Given the description of an element on the screen output the (x, y) to click on. 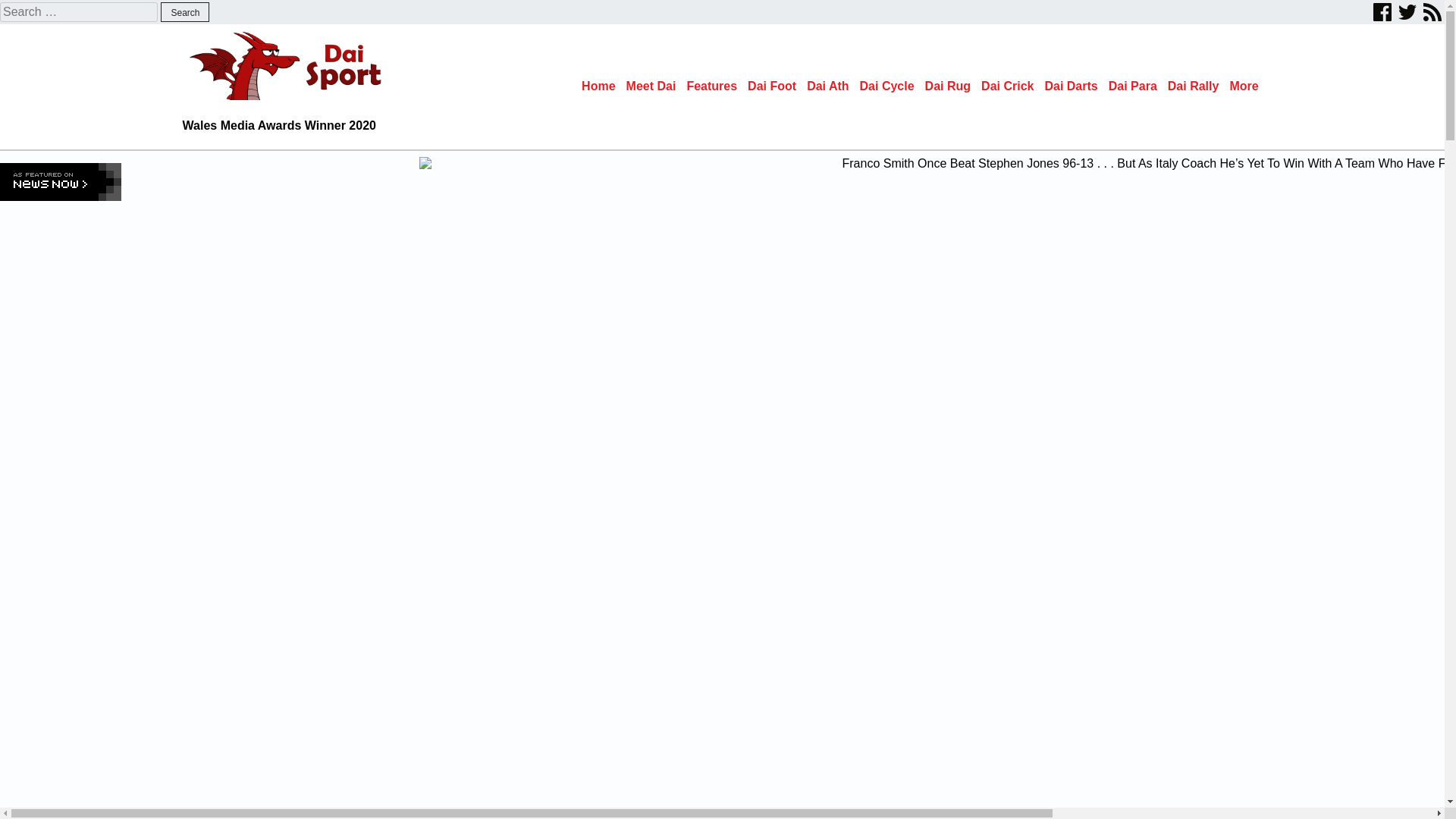
Click here for more Welsh Sport news from NewsNow (60, 181)
Search (184, 12)
Search (184, 12)
